Given the description of an element on the screen output the (x, y) to click on. 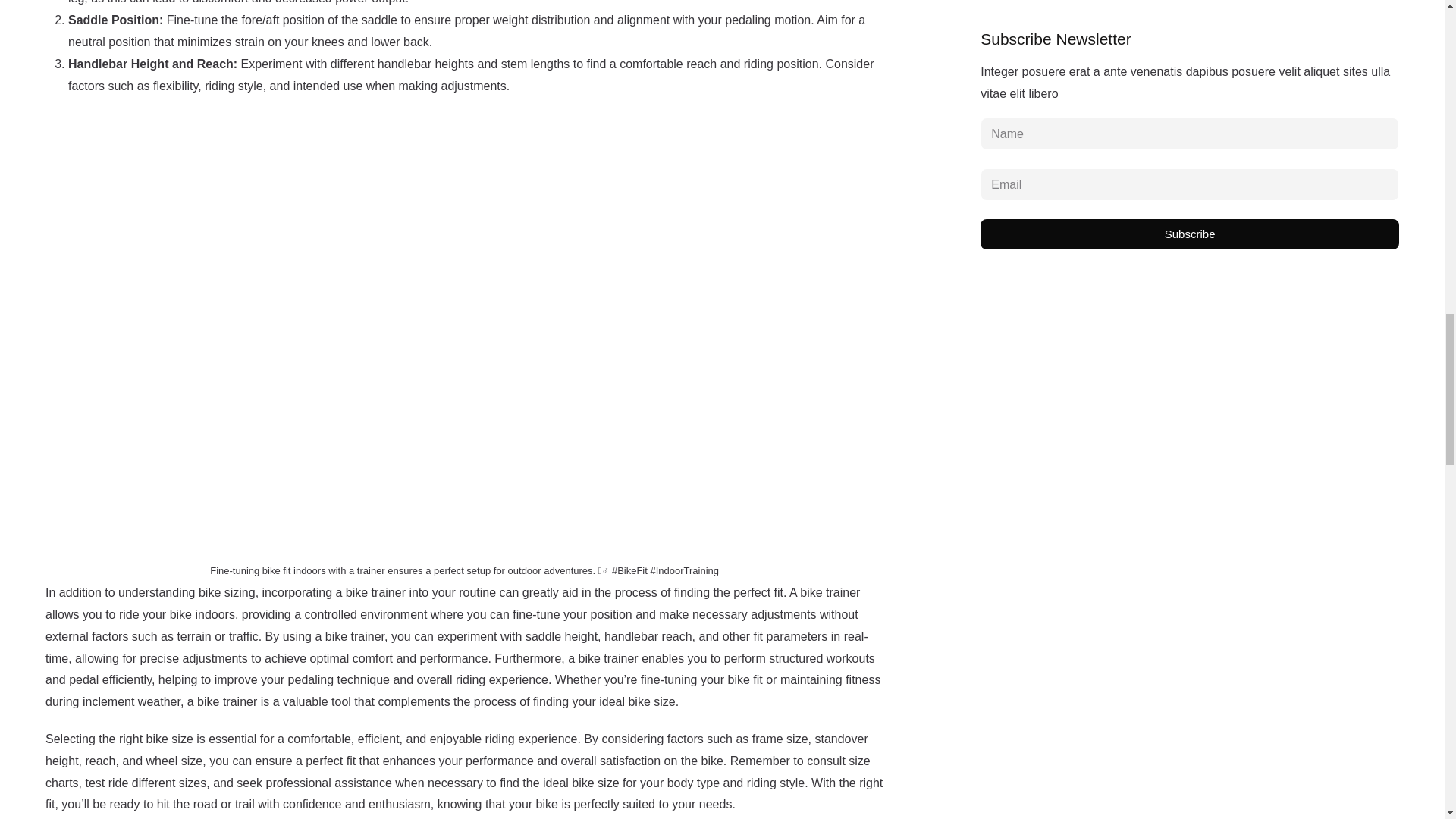
Subscribe (1189, 234)
